Given the description of an element on the screen output the (x, y) to click on. 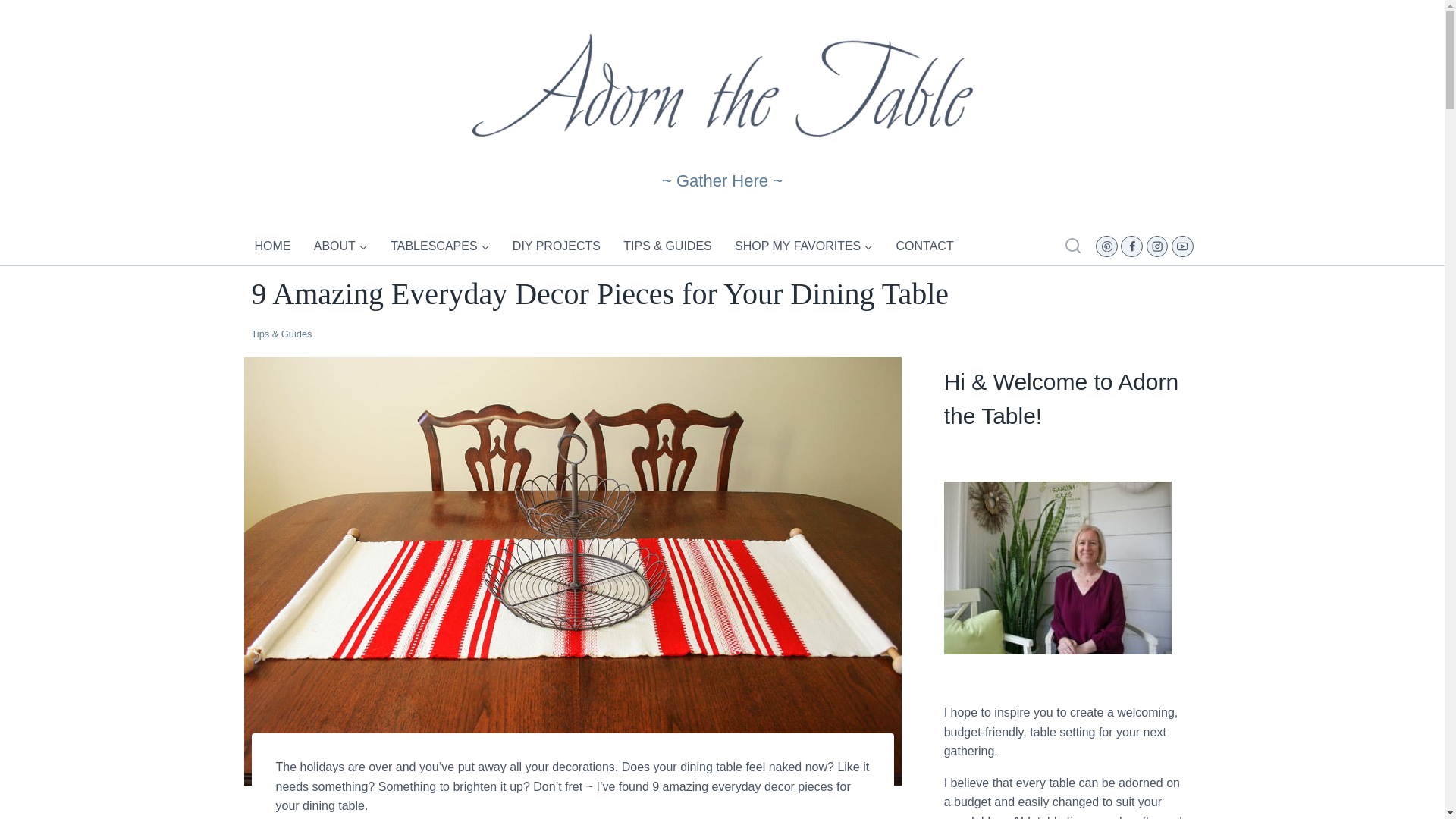
TABLESCAPES (439, 246)
ABOUT (341, 246)
HOME (272, 246)
CONTACT (924, 246)
DIY PROJECTS (556, 246)
SHOP MY FAVORITES (804, 246)
